Given the description of an element on the screen output the (x, y) to click on. 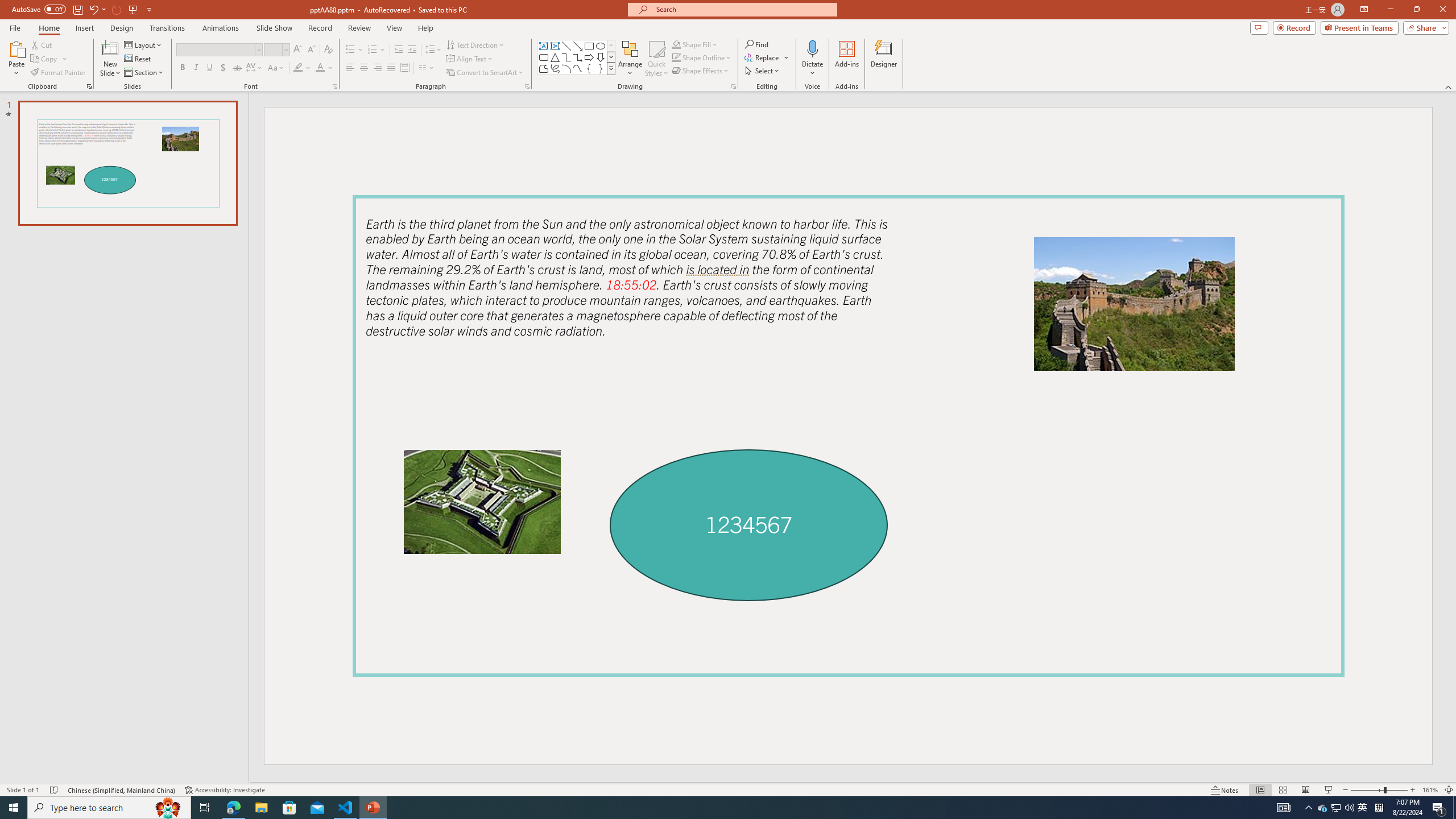
Shape Fill Aqua, Accent 2 (675, 44)
